Given the description of an element on the screen output the (x, y) to click on. 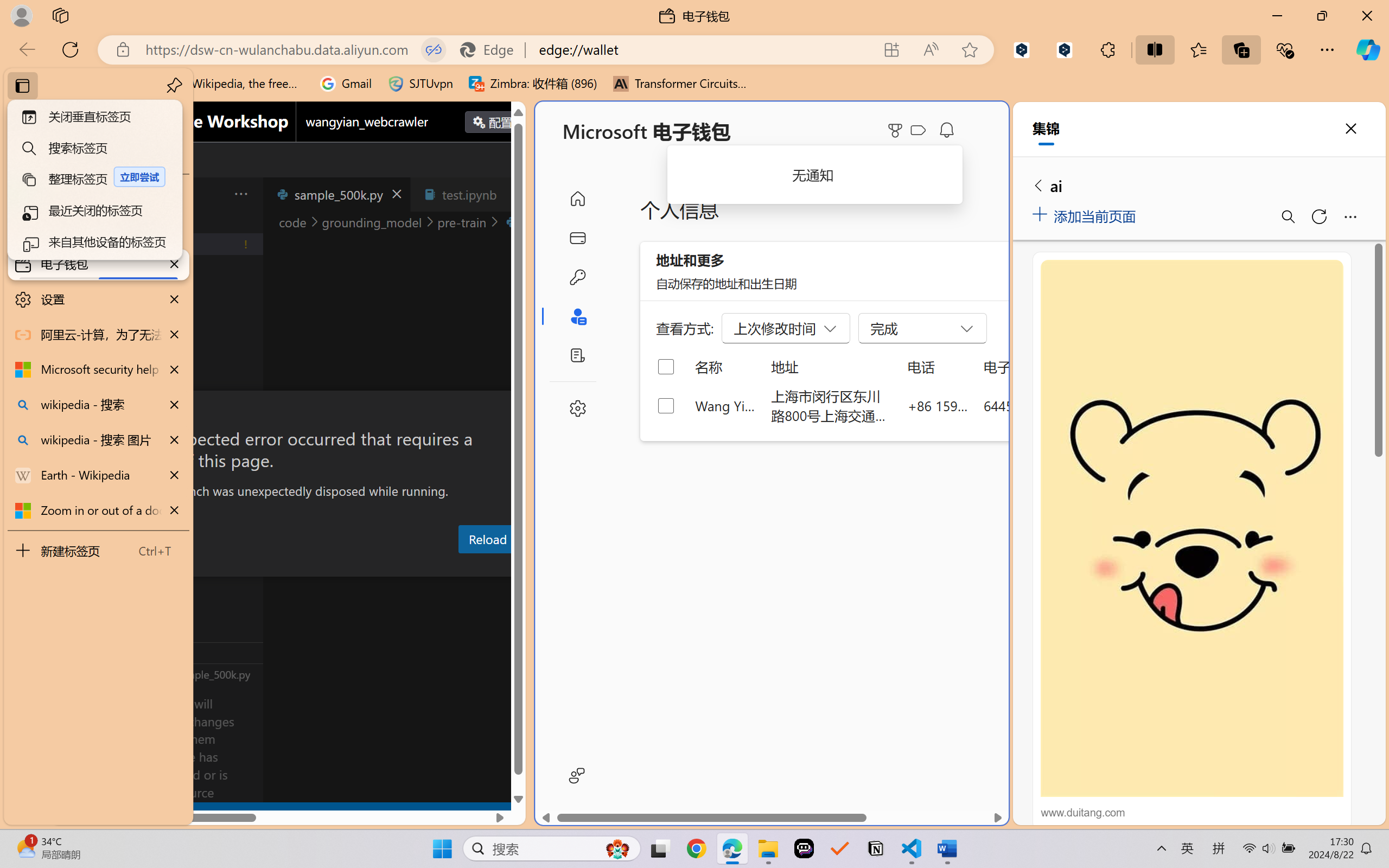
Edge (492, 49)
Class: ___1lmltc5 f1agt3bx f12qytpq (917, 130)
Explorer actions (212, 194)
remote (66, 812)
Problems (Ctrl+Shift+M) (308, 565)
